Given the description of an element on the screen output the (x, y) to click on. 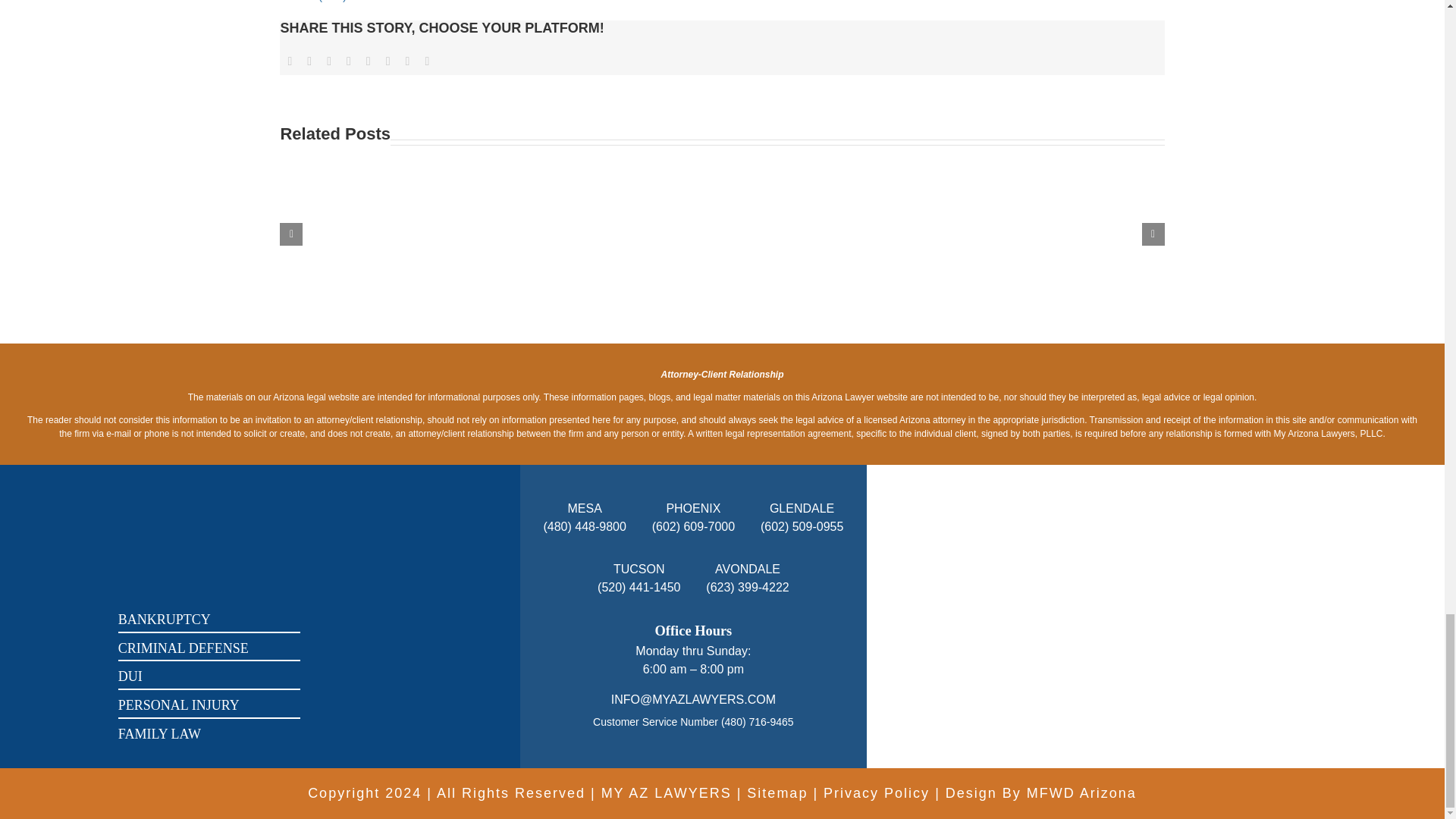
Tumblr (368, 60)
X (308, 60)
Reddit (328, 60)
Pinterest (387, 60)
LinkedIn (348, 60)
Vk (407, 60)
Facebook (289, 60)
Email (426, 60)
